Given the description of an element on the screen output the (x, y) to click on. 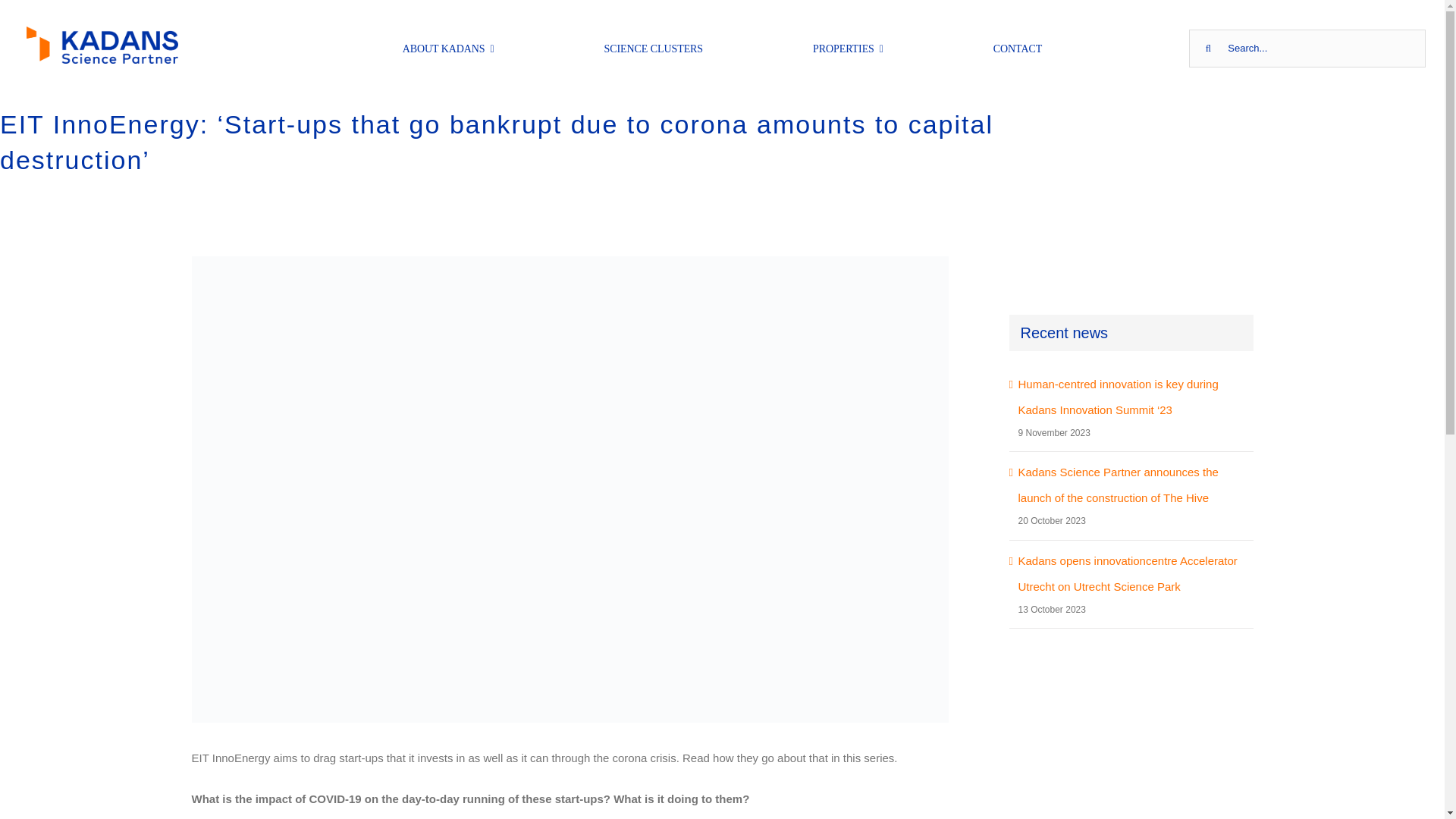
SCIENCE CLUSTERS (653, 48)
ABOUT KADANS (449, 48)
CONTACT (1017, 48)
PROPERTIES (847, 48)
